Given the description of an element on the screen output the (x, y) to click on. 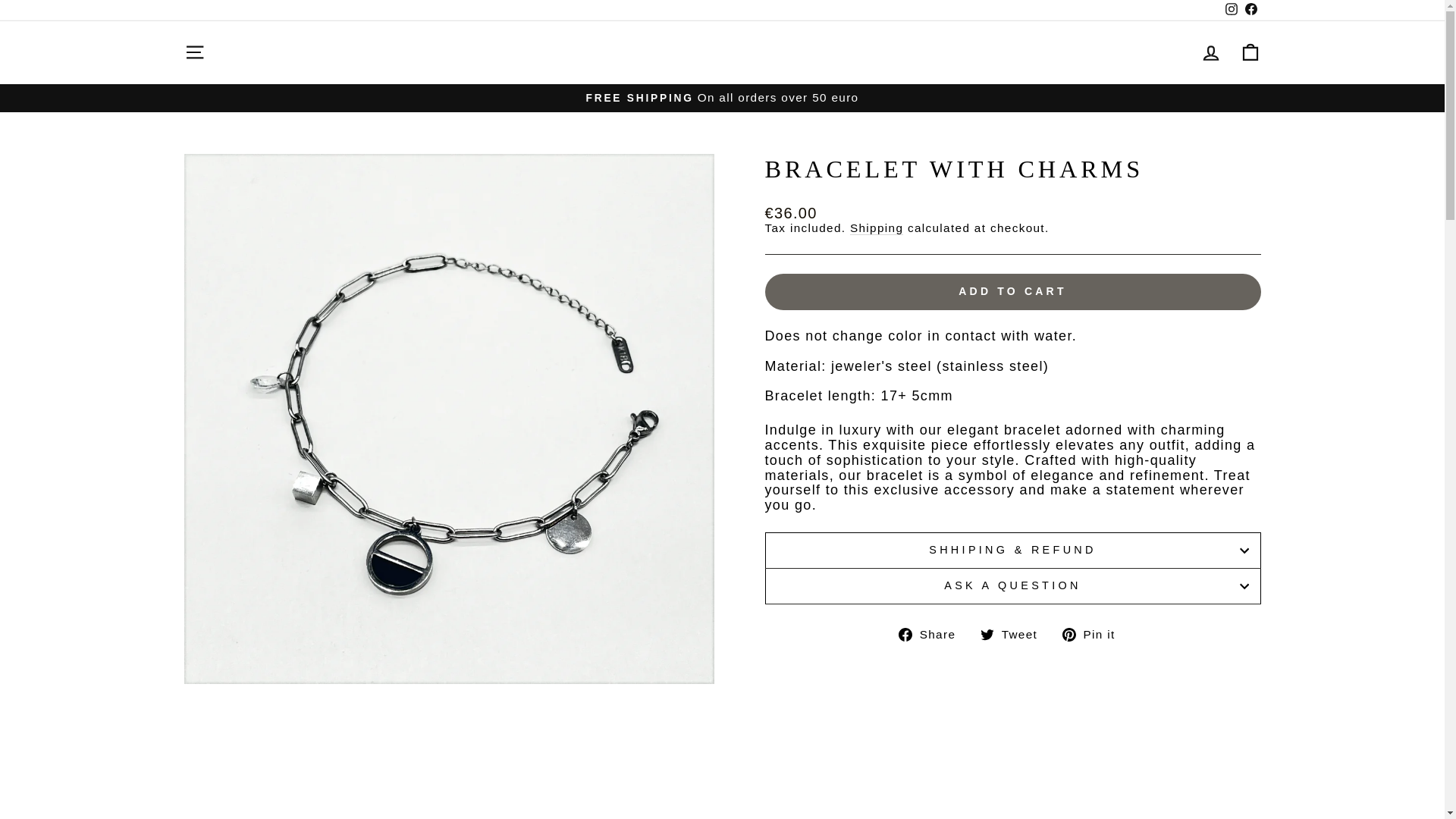
twitter (986, 634)
Pin on Pinterest (1230, 10)
Sofia Lark  on Facebook (1093, 634)
Sofia Lark  on Instagram (1250, 10)
ICON-HAMBURGER (1230, 10)
ICON-BAG-MINIMAL (194, 52)
Facebook (194, 52)
ACCOUNT (1249, 52)
